Given the description of an element on the screen output the (x, y) to click on. 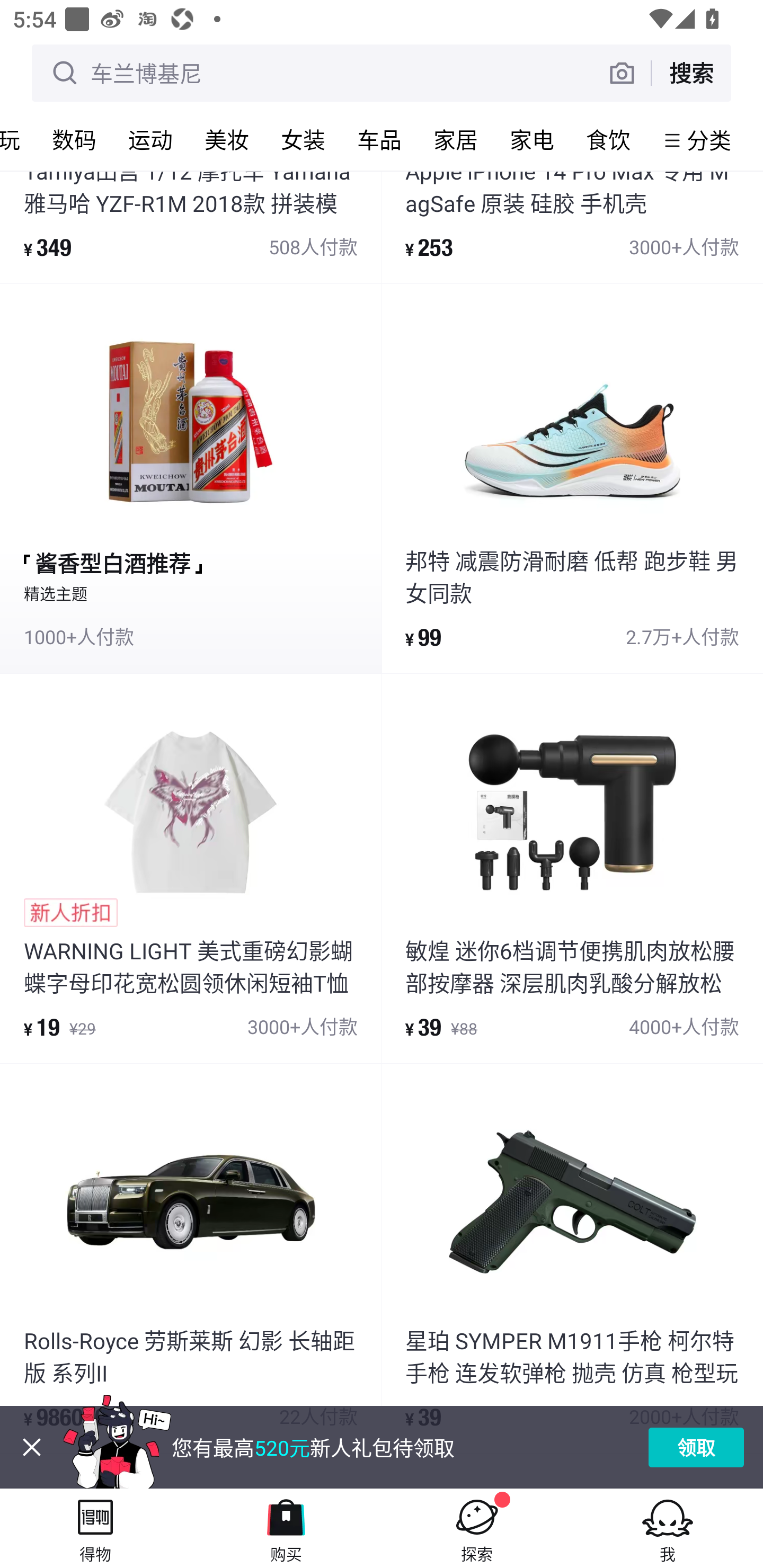
搜索 (690, 72)
数码 (73, 139)
运动 (150, 139)
美妆 (226, 139)
女装 (302, 139)
车品 (379, 139)
家居 (455, 139)
家电 (531, 139)
食饮 (607, 139)
酱香型白酒推荐 精选主题 1000+人付款 (190, 477)
product_item 邦特 减震防滑耐磨 低帮 跑步鞋 男
女同款 ¥ 99 2.7万+人付款 (572, 477)
领取 (695, 1446)
得物 (95, 1528)
购买 (285, 1528)
探索 (476, 1528)
我 (667, 1528)
